Given the description of an element on the screen output the (x, y) to click on. 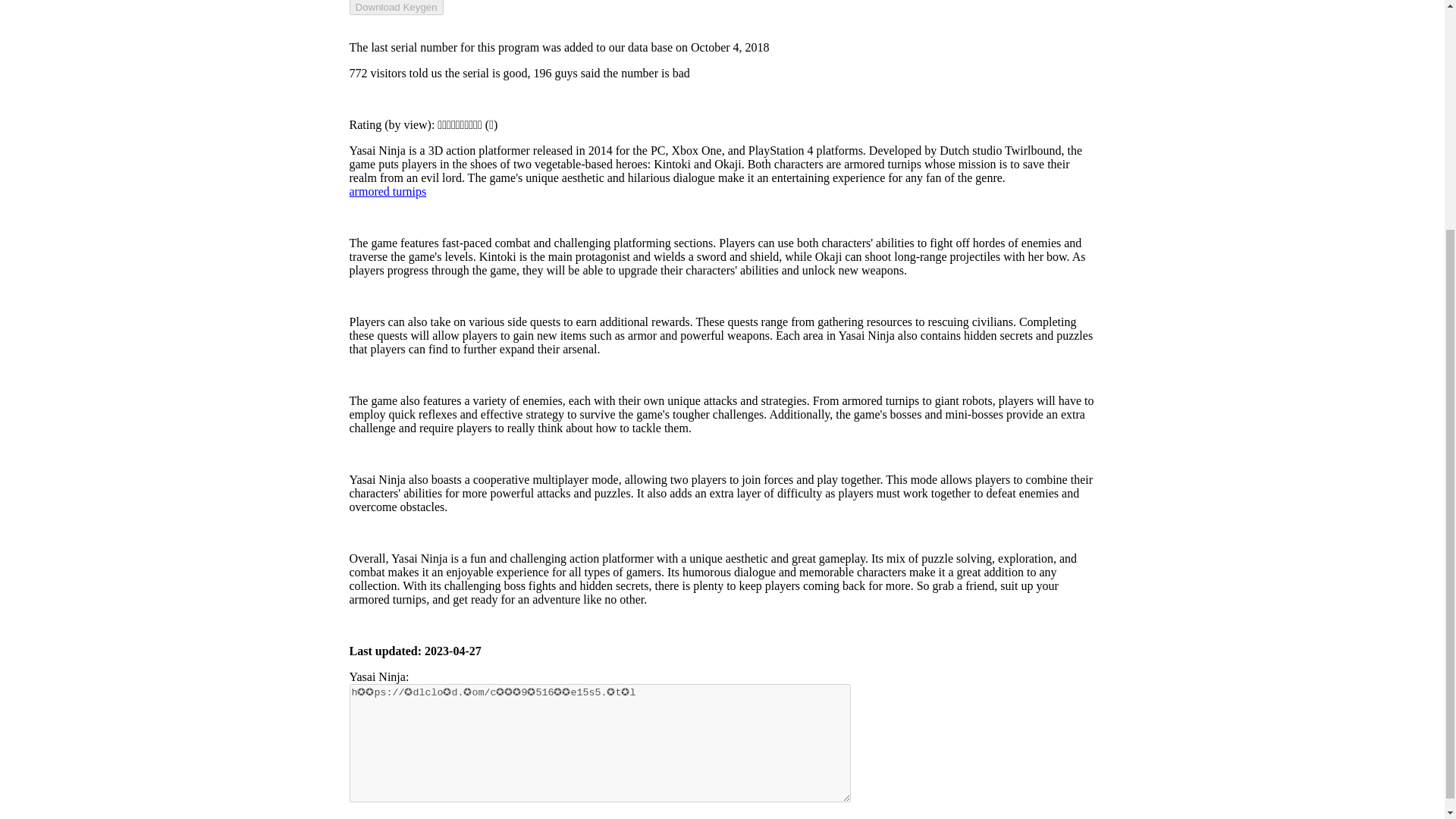
Download Keygen (395, 7)
Download Keygen (395, 7)
armored turnips (387, 190)
